Given the description of an element on the screen output the (x, y) to click on. 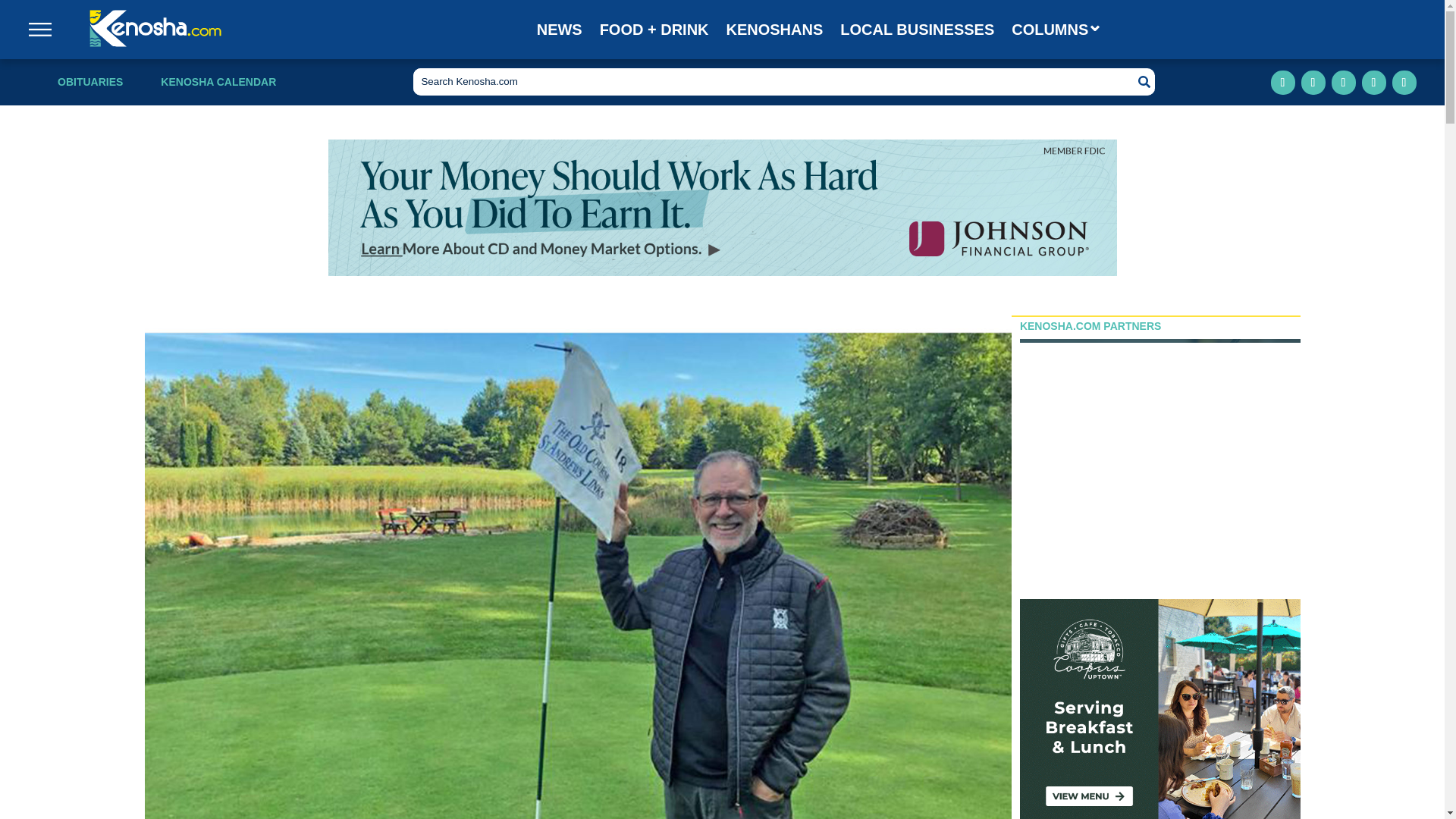
Follow on X (1373, 82)
Follow on LinkedIn (1343, 82)
Follow on Facebook (1283, 82)
Follow on Spotify (1403, 82)
Follow on Instagram (1312, 82)
